Given the description of an element on the screen output the (x, y) to click on. 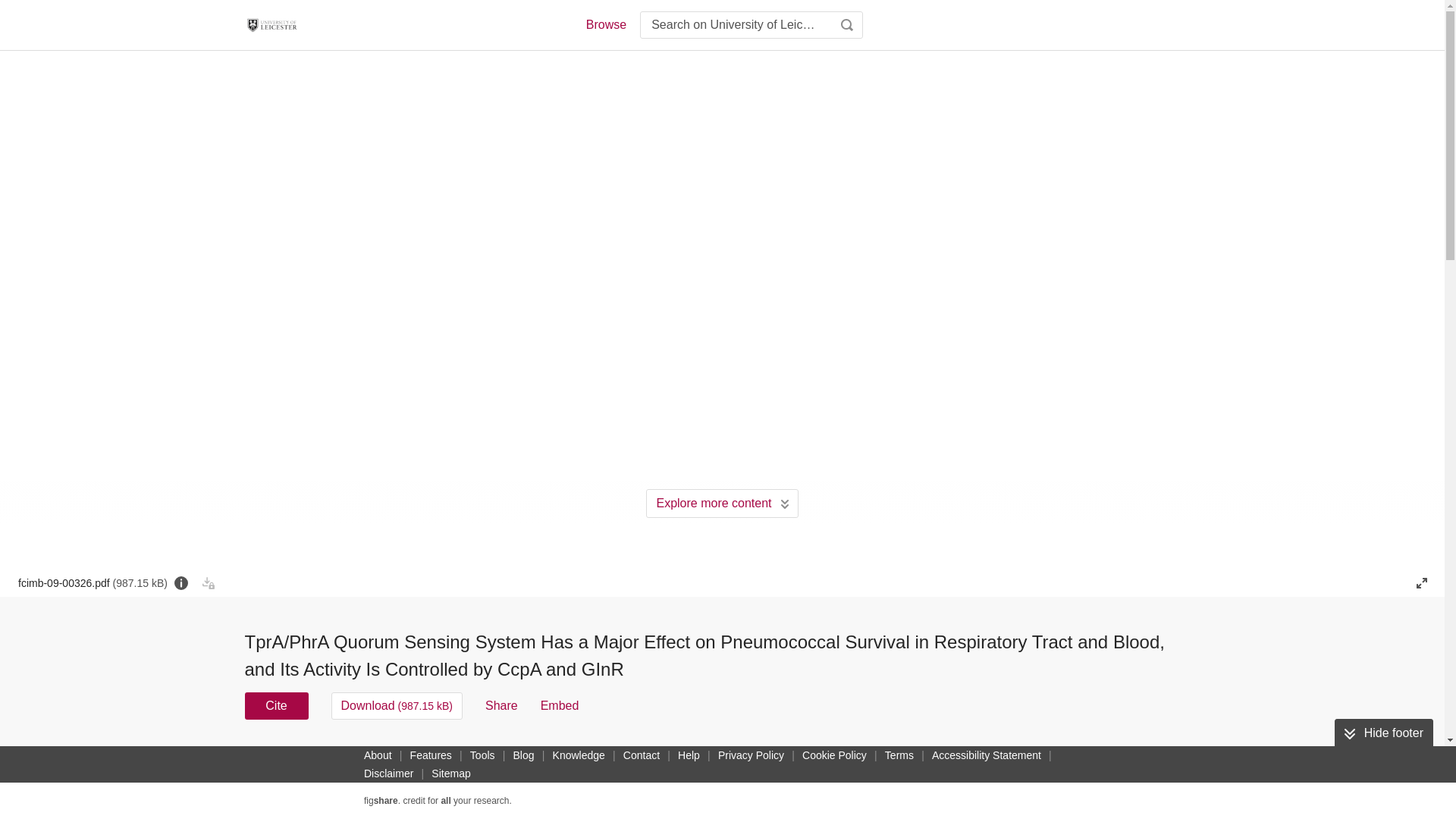
USAGE METRICS (976, 759)
Share (501, 705)
Browse (605, 24)
fcimb-09-00326.pdf (92, 583)
Explore more content (721, 502)
Embed (559, 705)
Cite (275, 705)
